Given the description of an element on the screen output the (x, y) to click on. 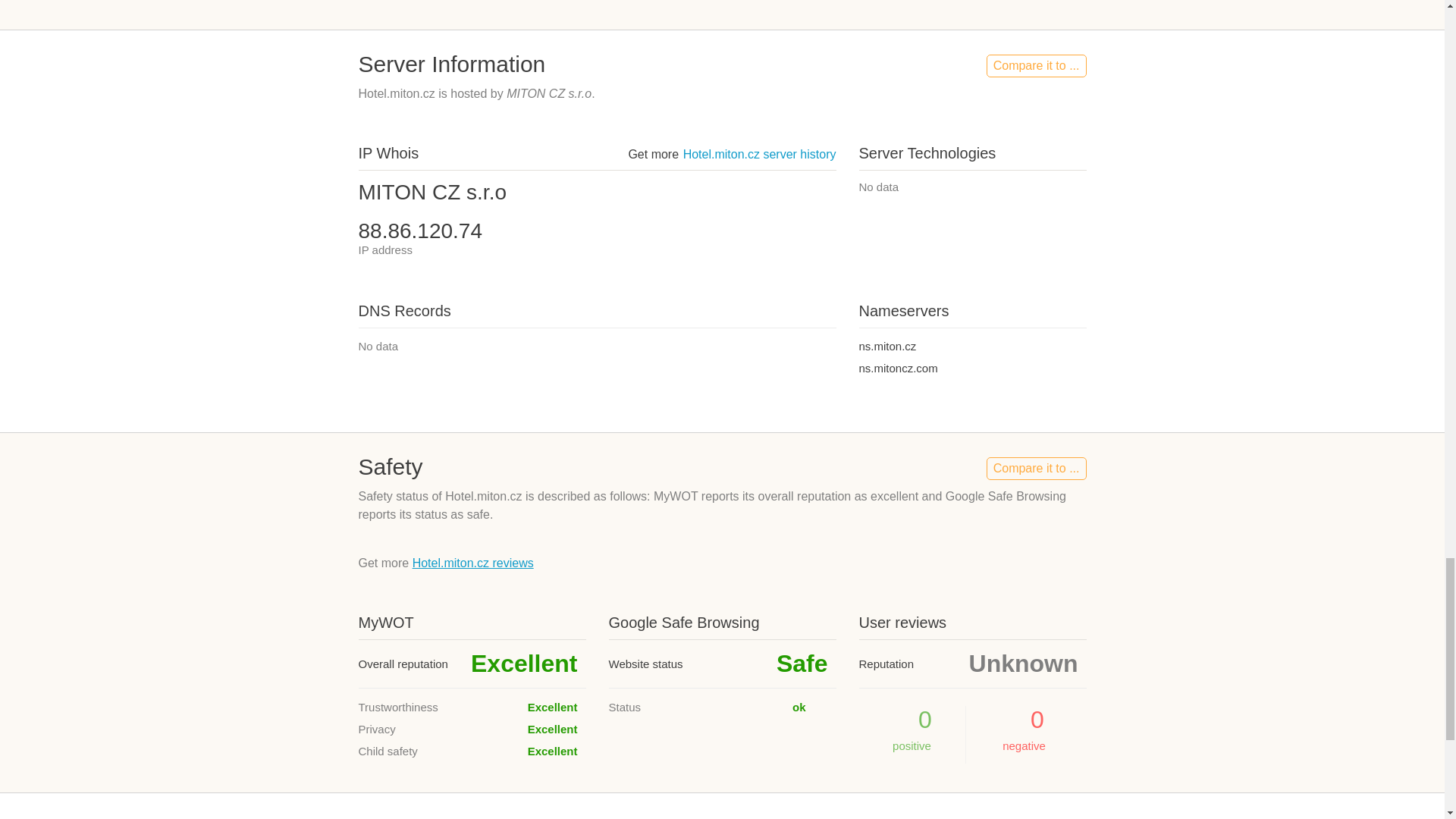
Hotel.miton.cz server history (758, 154)
Compare it to ... (1036, 468)
Compare it to ... (1036, 65)
Hotel.miton.cz reviews (473, 562)
